Given the description of an element on the screen output the (x, y) to click on. 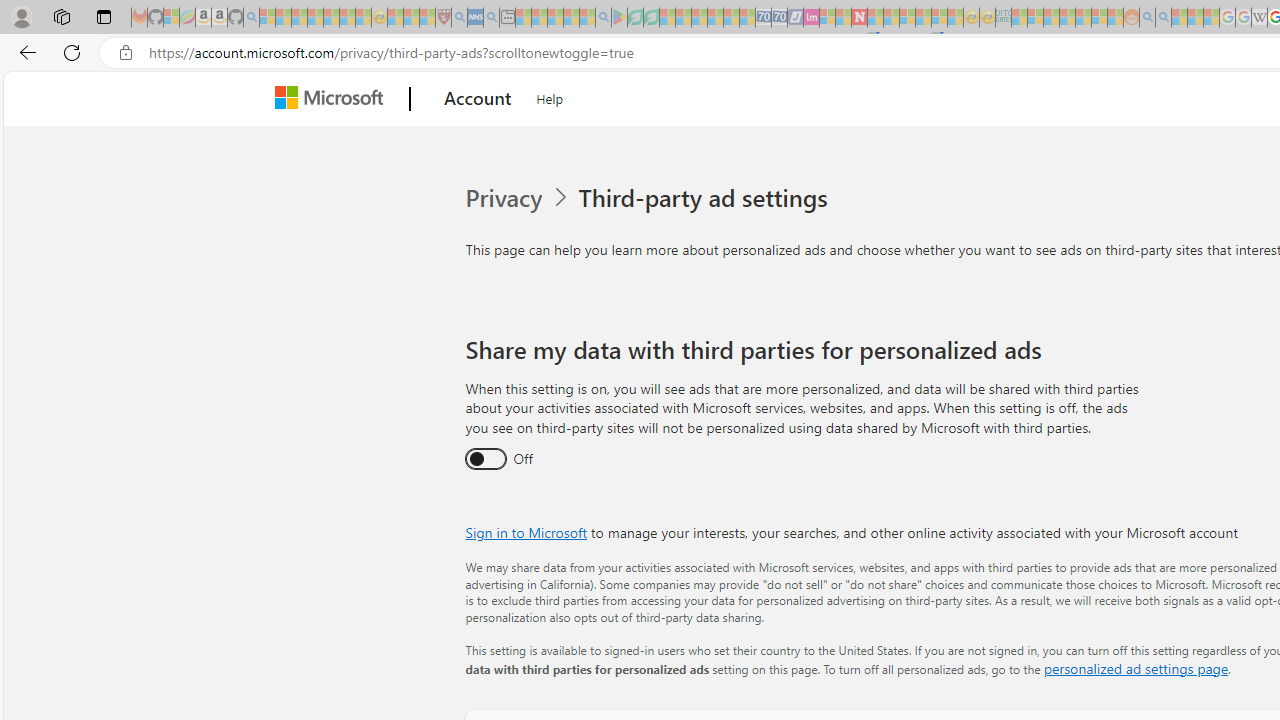
Third party data sharing toggle (484, 459)
utah sues federal government - Search - Sleeping (491, 17)
